Given the description of an element on the screen output the (x, y) to click on. 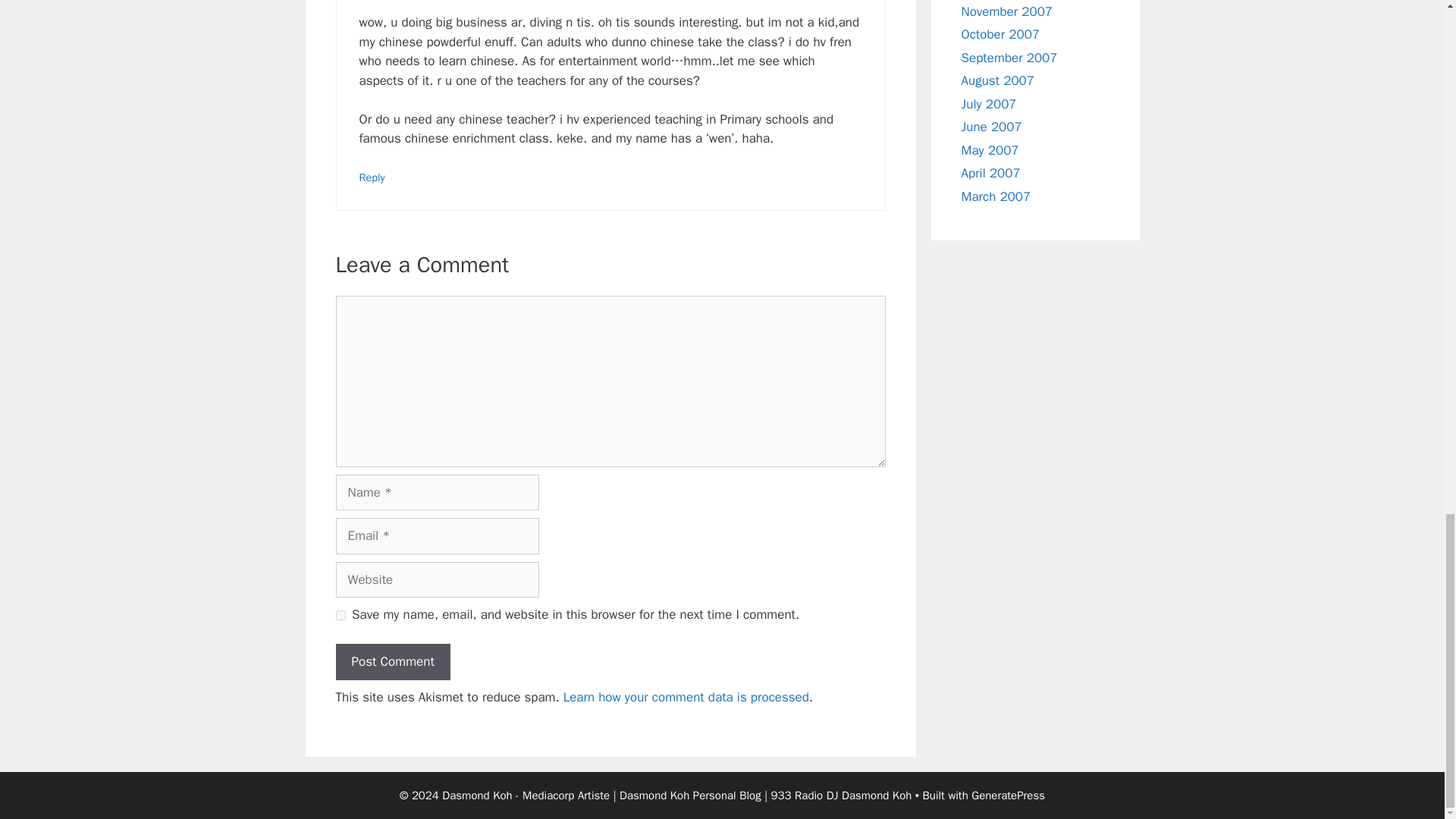
Post Comment (391, 661)
Post Comment (391, 661)
yes (339, 614)
Reply (372, 177)
Learn how your comment data is processed (686, 697)
